Given the description of an element on the screen output the (x, y) to click on. 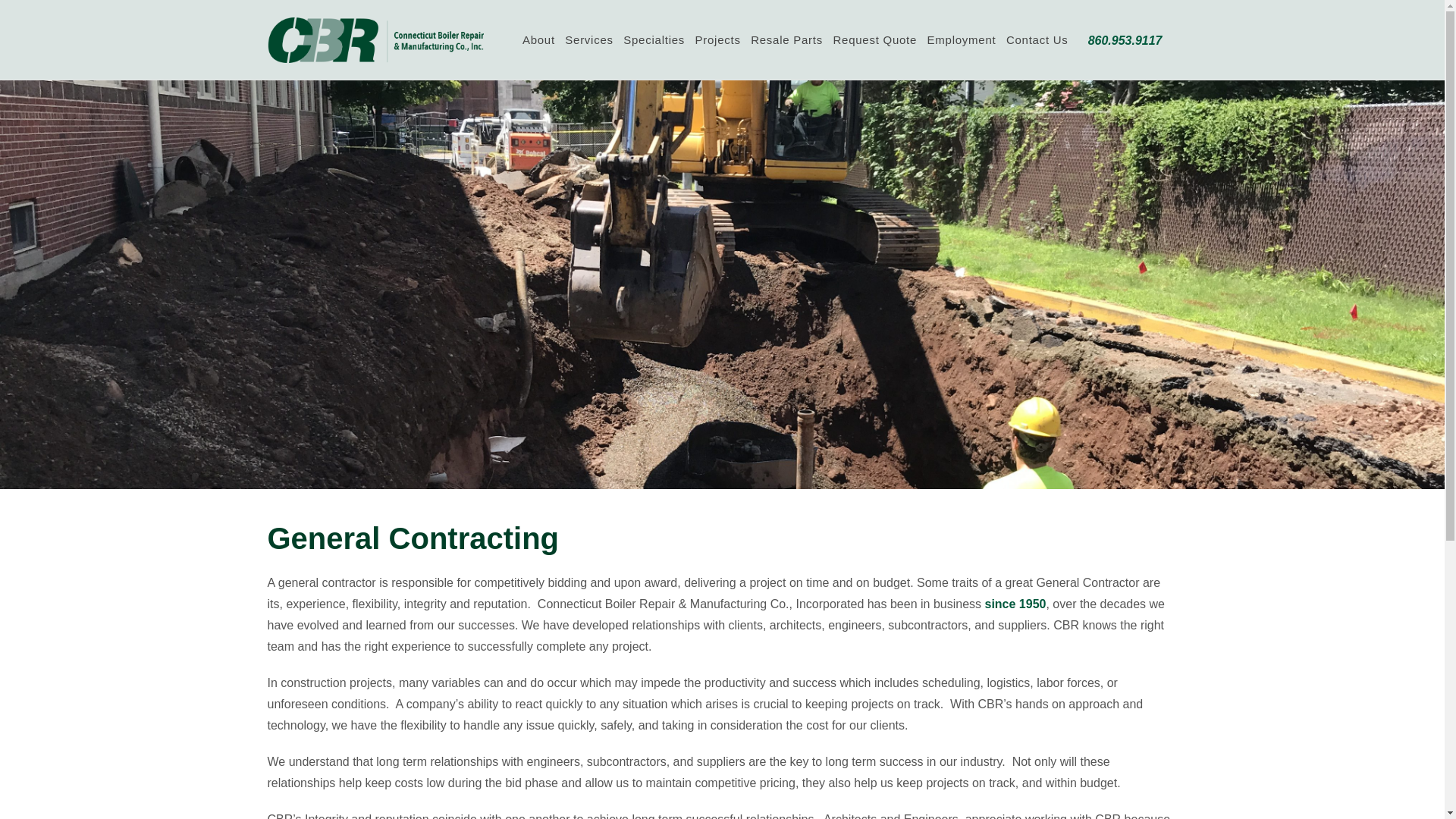
Request Quote (874, 39)
Contact Us (1037, 39)
since 1950 (1014, 603)
Resale Parts (786, 39)
Employment (962, 39)
